Given the description of an element on the screen output the (x, y) to click on. 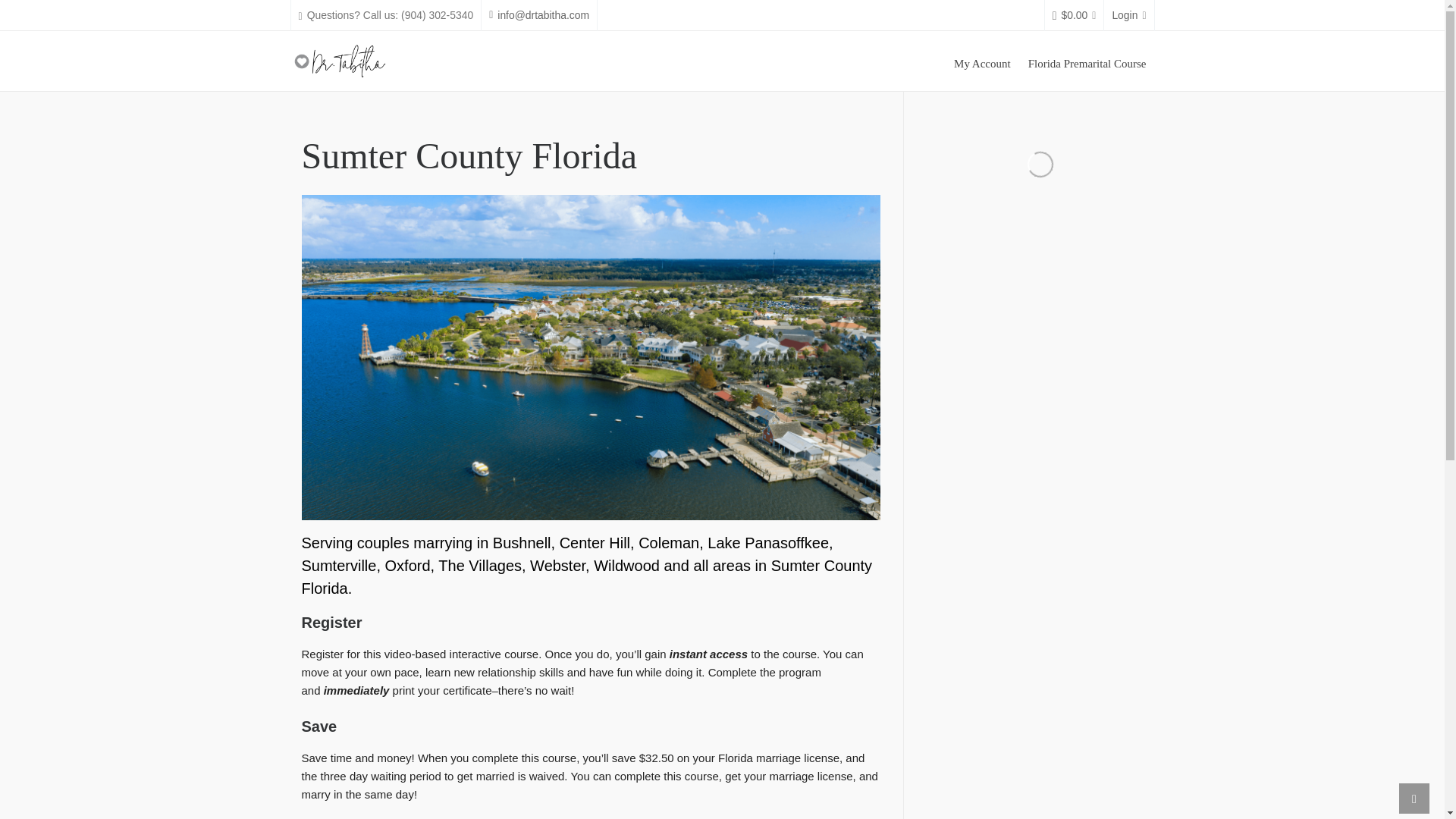
My Account (981, 61)
Login (1128, 14)
Florida Premarital Course (1087, 61)
